Given the description of an element on the screen output the (x, y) to click on. 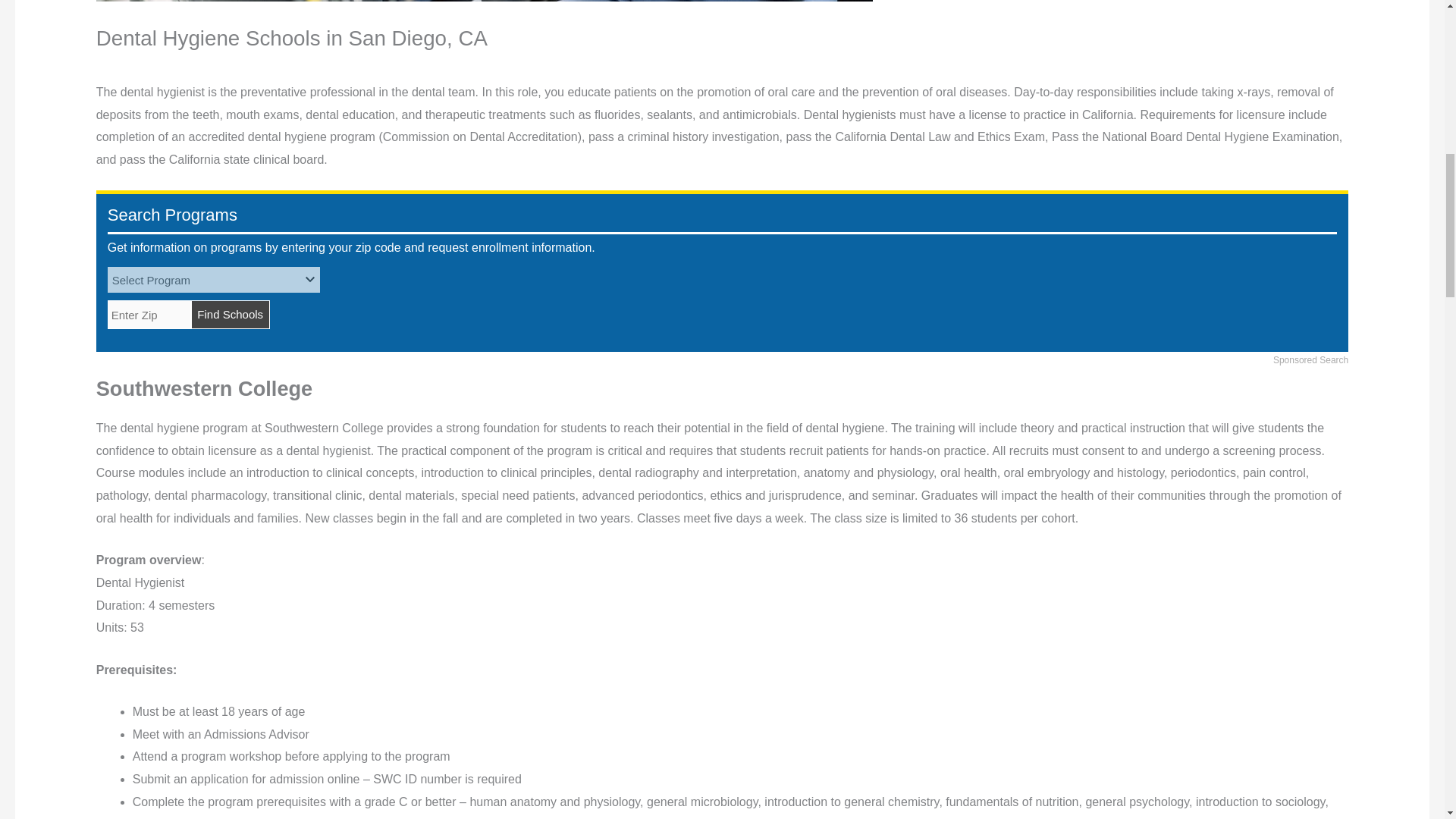
Find Schools (229, 314)
Find Schools (229, 314)
